Given the description of an element on the screen output the (x, y) to click on. 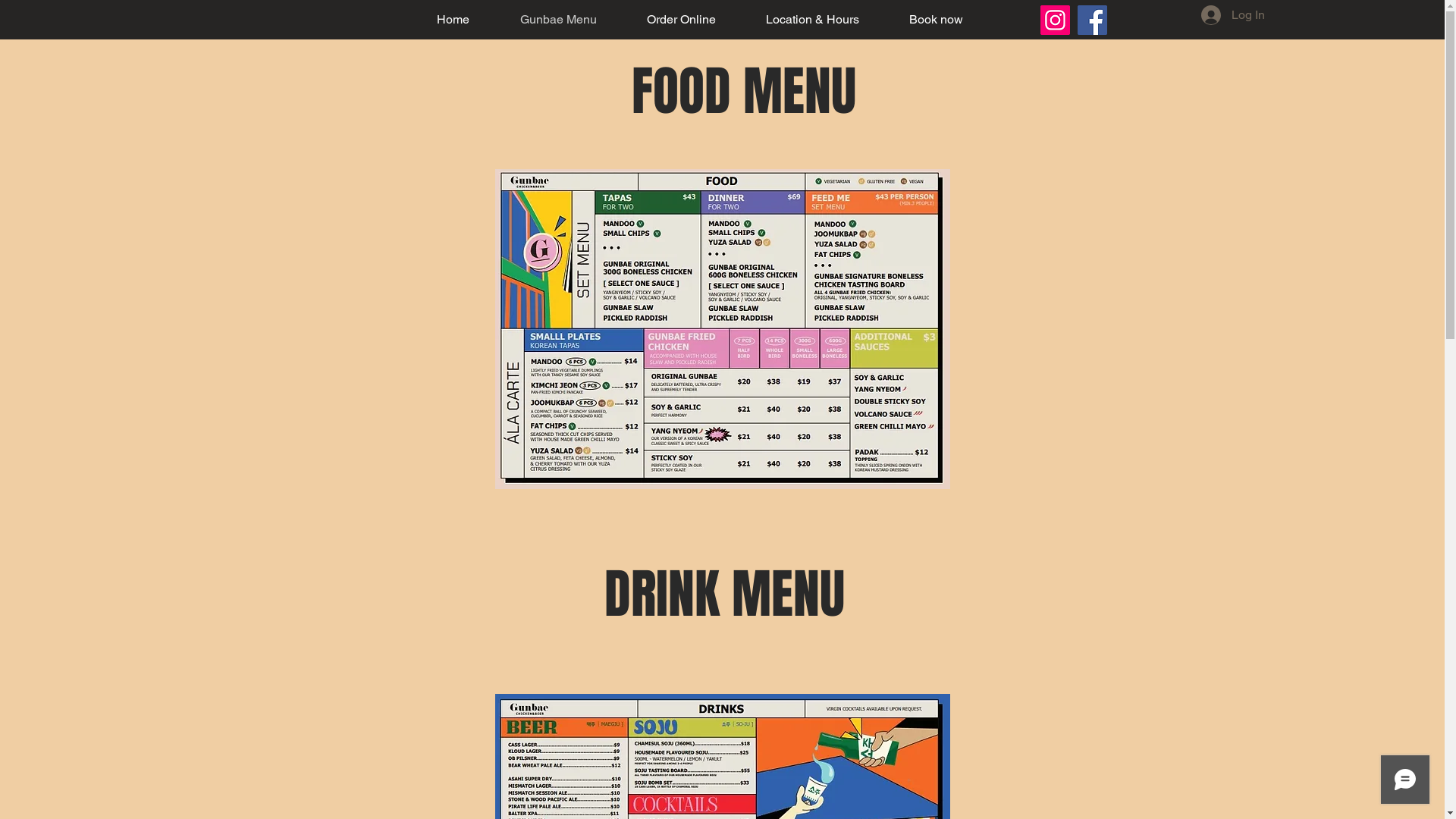
Book now Element type: text (936, 19)
Order Online Element type: text (680, 19)
Home Element type: text (452, 19)
Location & Hours Element type: text (811, 19)
Log In Element type: text (1232, 14)
Gunbae Dinner menu page1.jpg Element type: hover (721, 329)
Gunbae Menu Element type: text (557, 19)
